Given the description of an element on the screen output the (x, y) to click on. 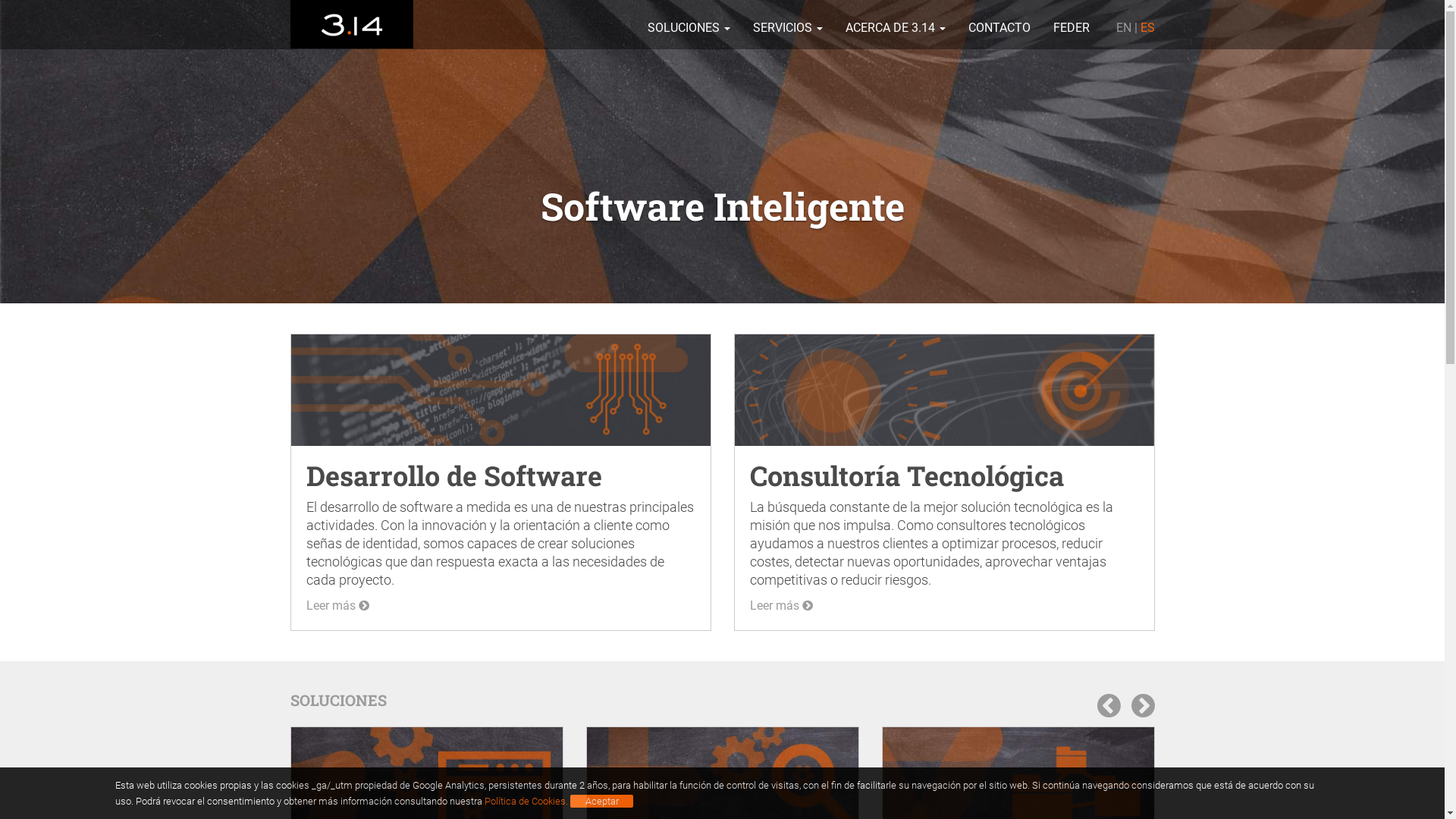
SOLUCIONES Element type: text (687, 24)
Aceptar Element type: text (601, 801)
EN Element type: text (1123, 27)
CONTACTO Element type: text (999, 24)
ACERCA DE 3.14 Element type: text (895, 24)
SERVICIOS Element type: text (787, 24)
ES Element type: text (1147, 27)
Desarrollo de Software Element type: text (454, 475)
FEDER Element type: text (1071, 24)
